Given the description of an element on the screen output the (x, y) to click on. 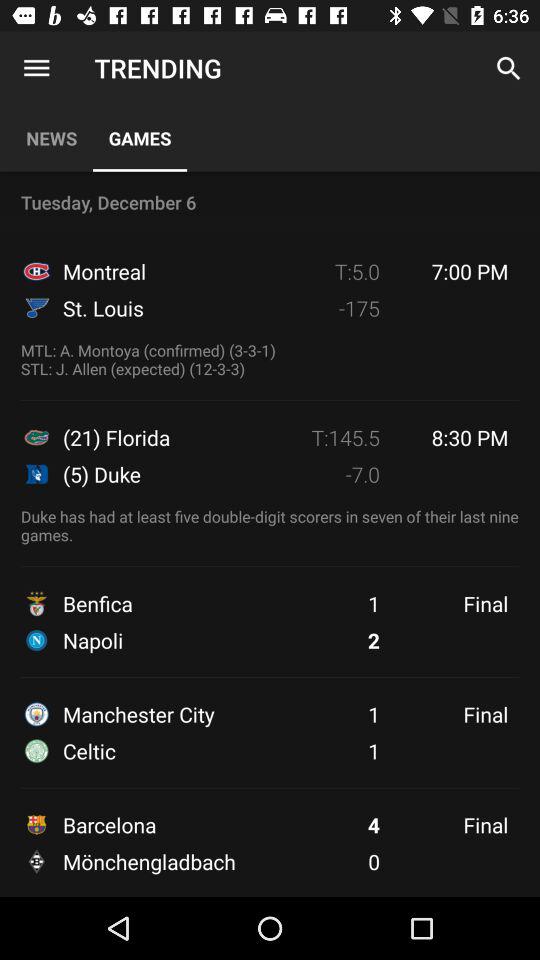
launch item next to the games icon (36, 68)
